Given the description of an element on the screen output the (x, y) to click on. 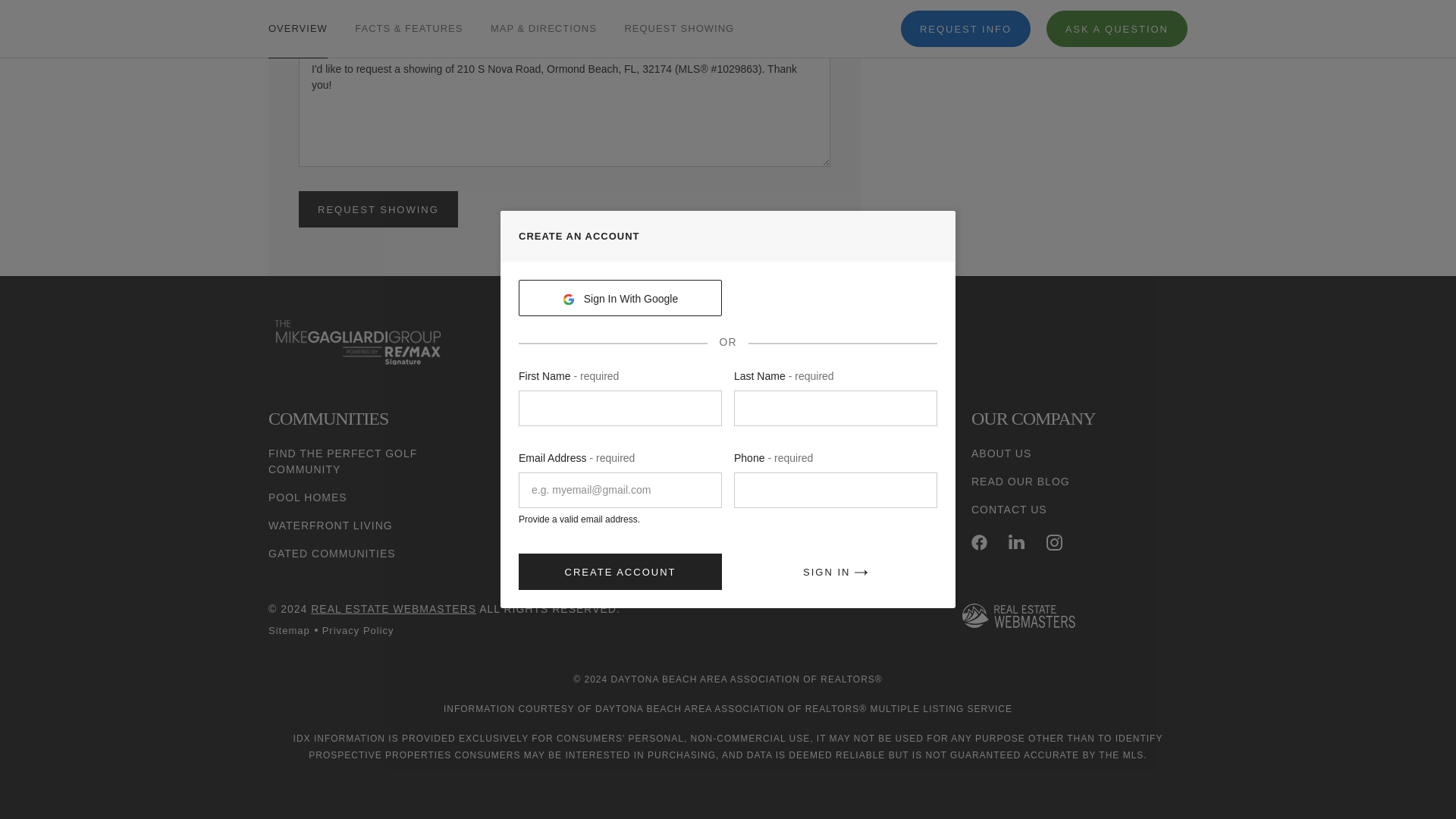
FACEBOOK (979, 542)
LINKEDIN (1017, 542)
